Given the description of an element on the screen output the (x, y) to click on. 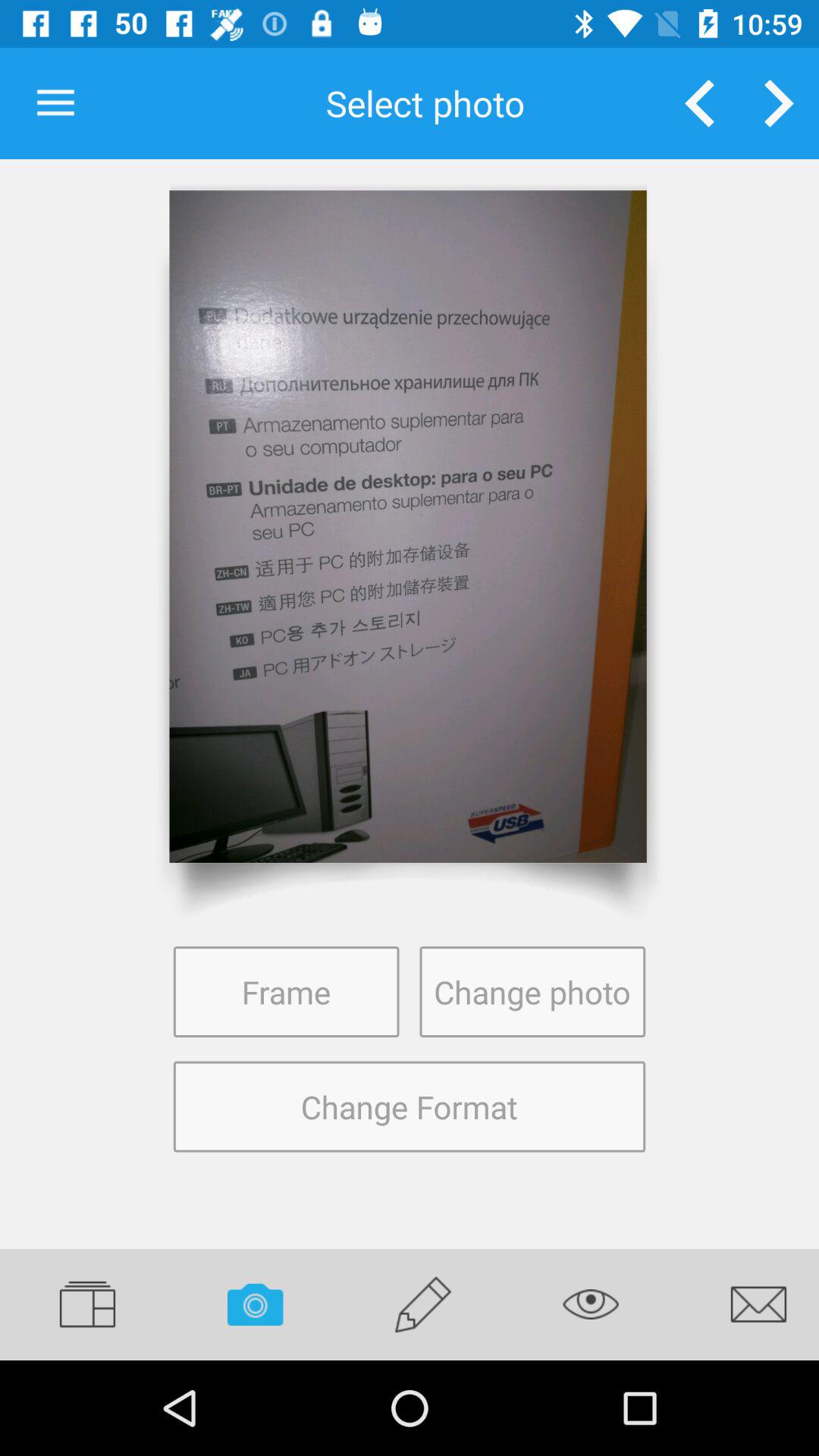
launch item at the top left corner (55, 103)
